Given the description of an element on the screen output the (x, y) to click on. 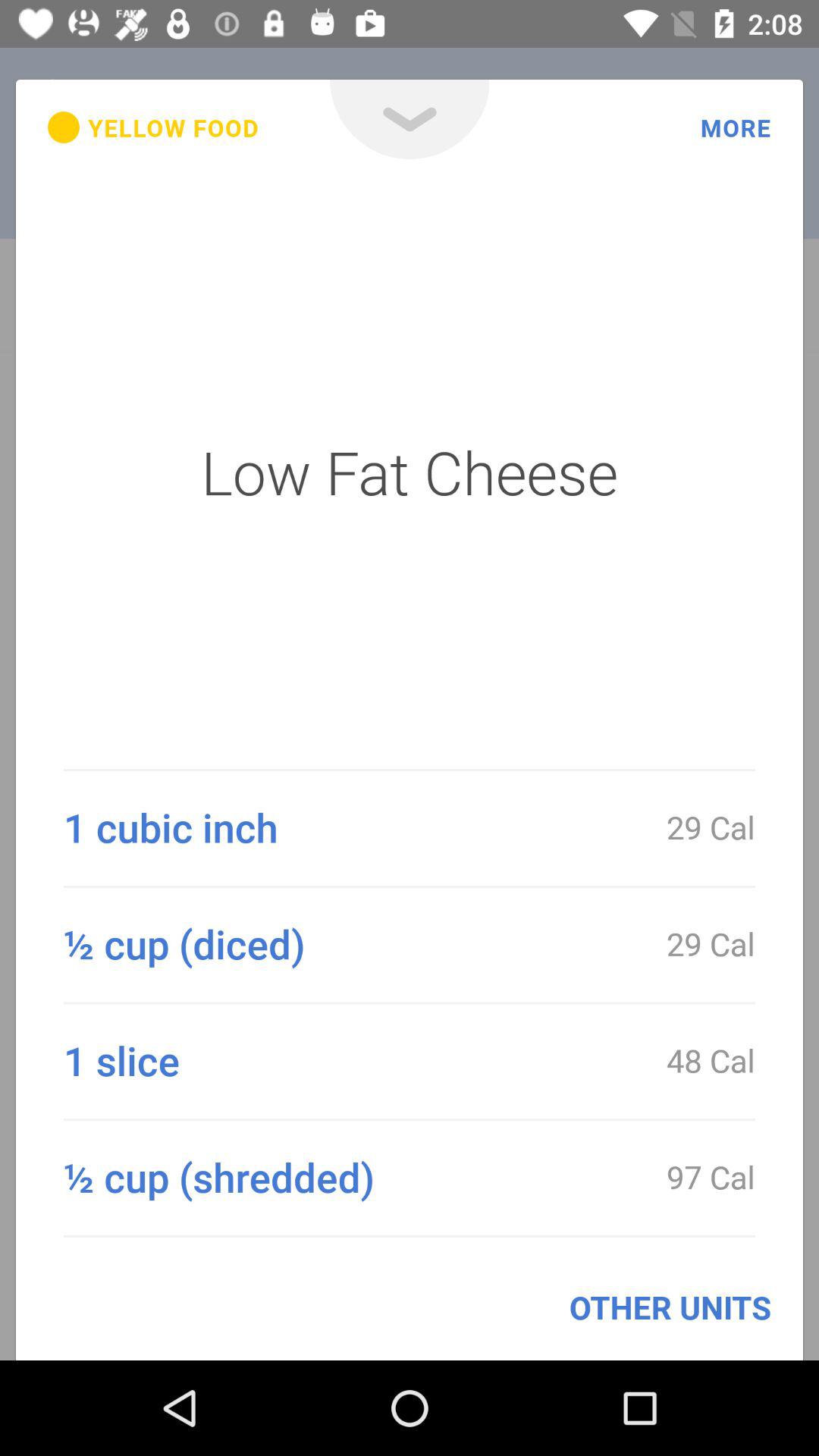
turn off item above the low fat cheese (152, 127)
